Given the description of an element on the screen output the (x, y) to click on. 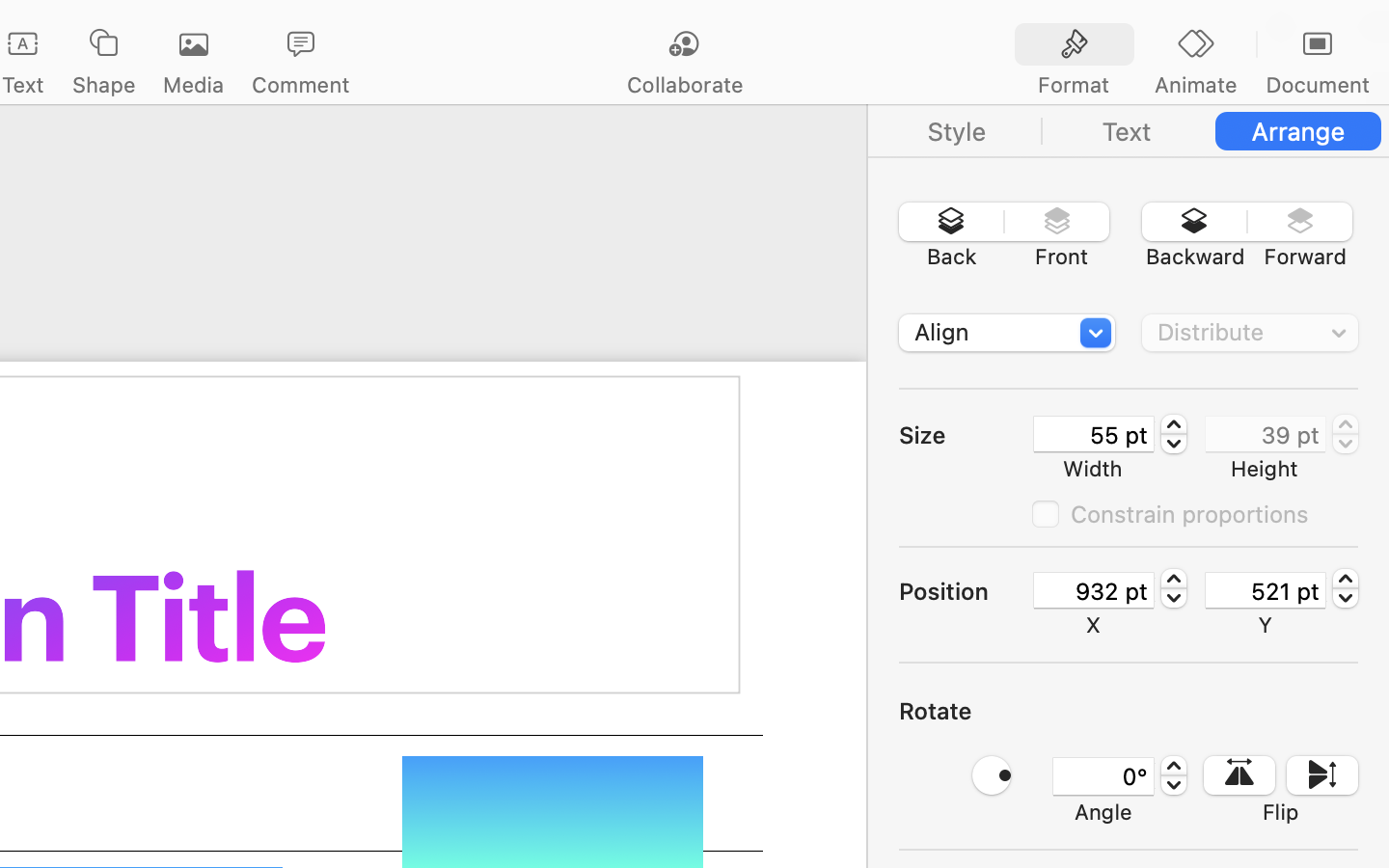
Media Element type: AXStaticText (192, 84)
39 pt Element type: AXTextField (1265, 433)
Height Element type: AXStaticText (1264, 468)
Position Element type: AXStaticText (964, 590)
Width Element type: AXStaticText (1092, 468)
